Given the description of an element on the screen output the (x, y) to click on. 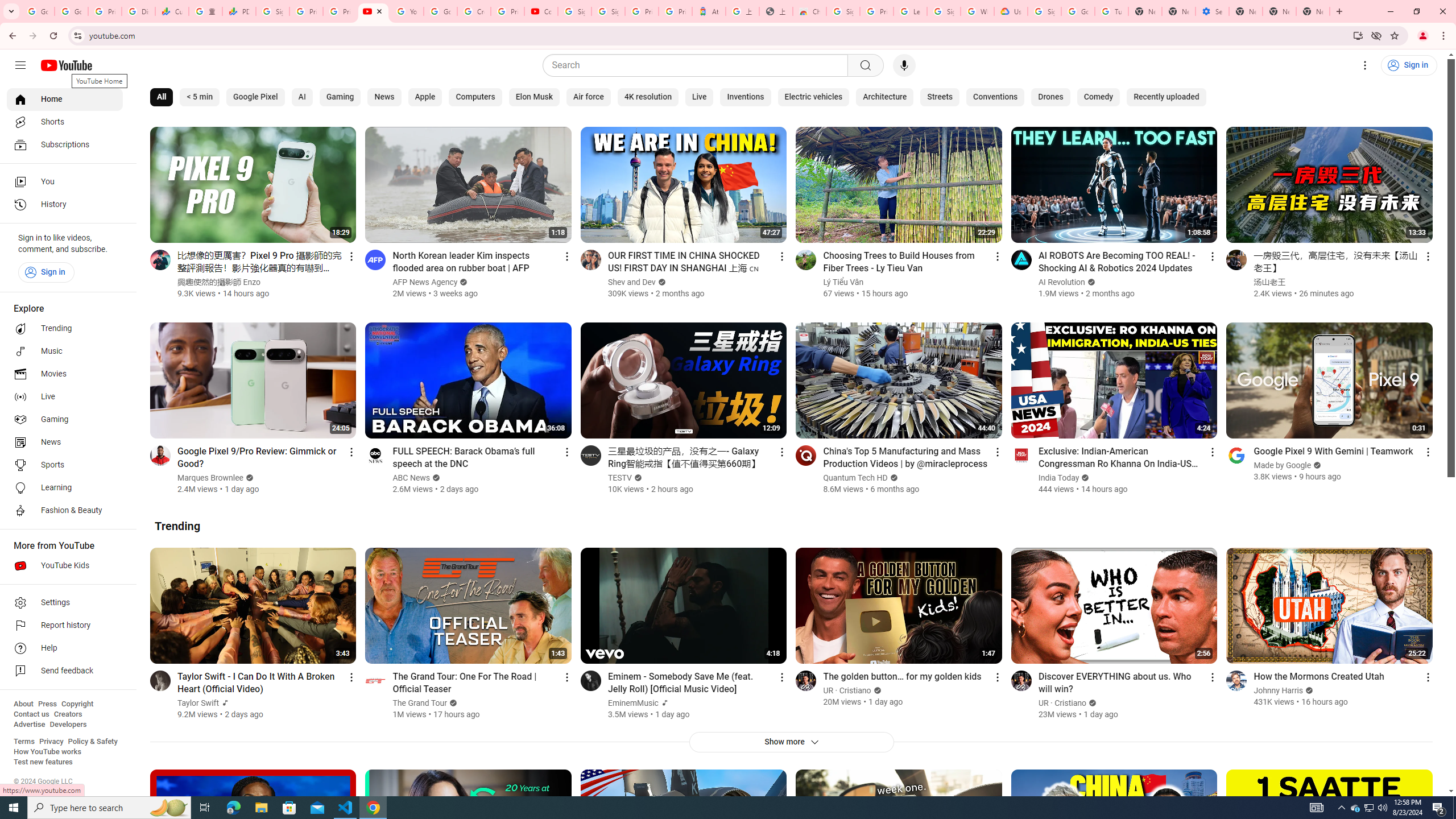
Conventions (995, 97)
YouTube Home (66, 65)
Show more (790, 741)
Content Creator Programs & Opportunities - YouTube Creators (541, 11)
Sign in - Google Accounts (608, 11)
Google Account Help (441, 11)
